Given the description of an element on the screen output the (x, y) to click on. 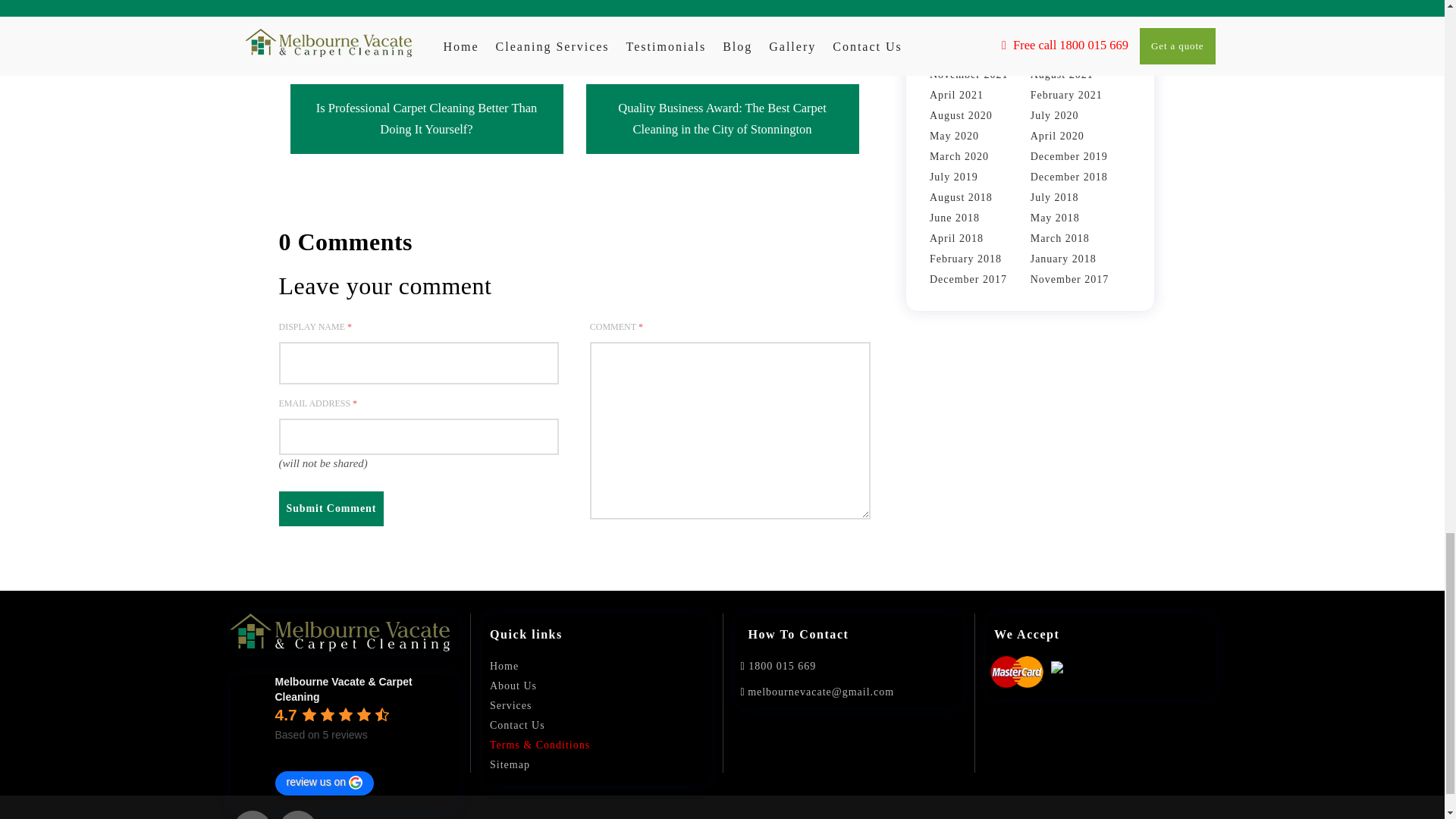
1800015669 (777, 665)
Submit Comment (331, 508)
